Given the description of an element on the screen output the (x, y) to click on. 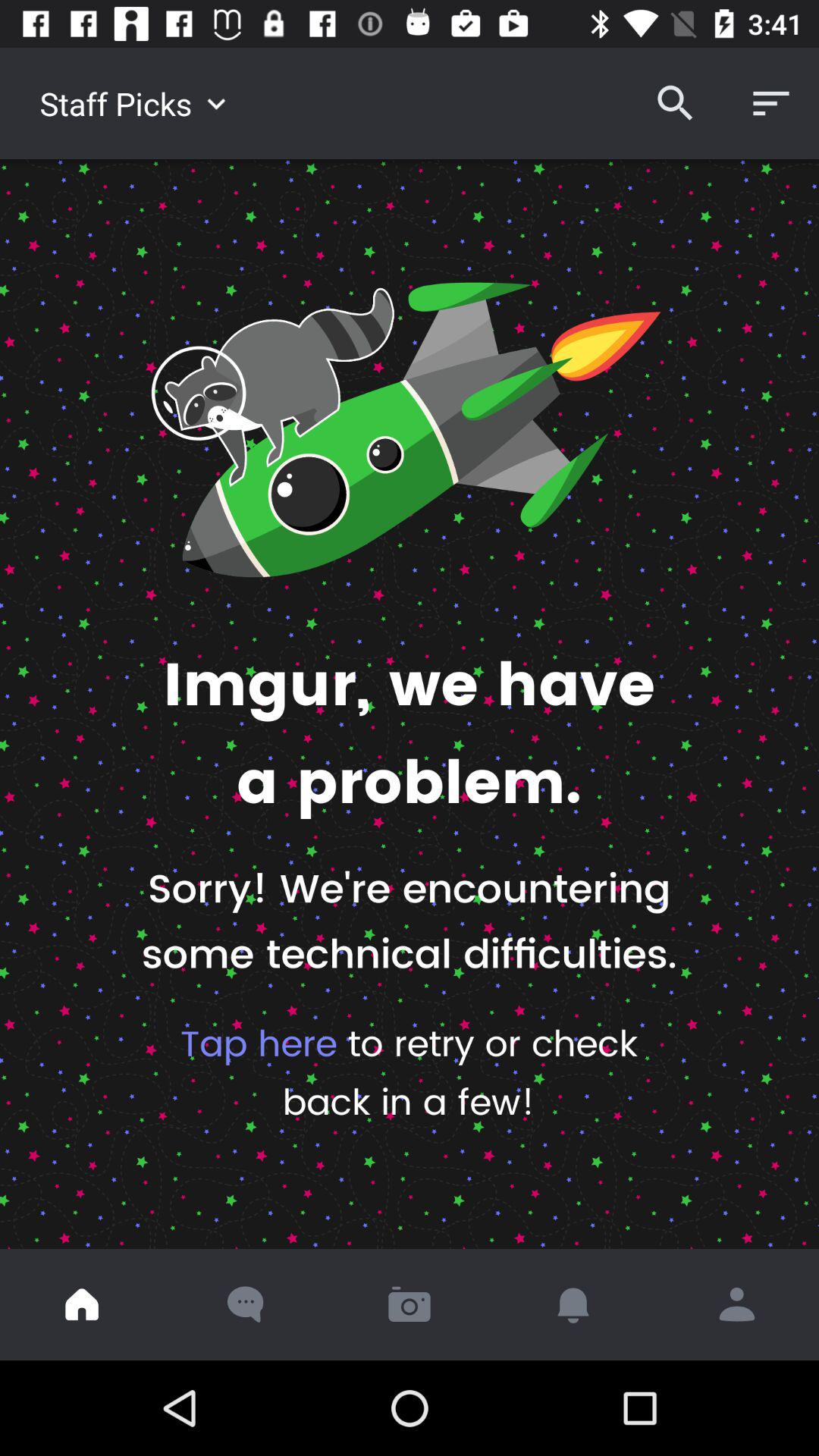
press icon to the right of staff picks (675, 103)
